Given the description of an element on the screen output the (x, y) to click on. 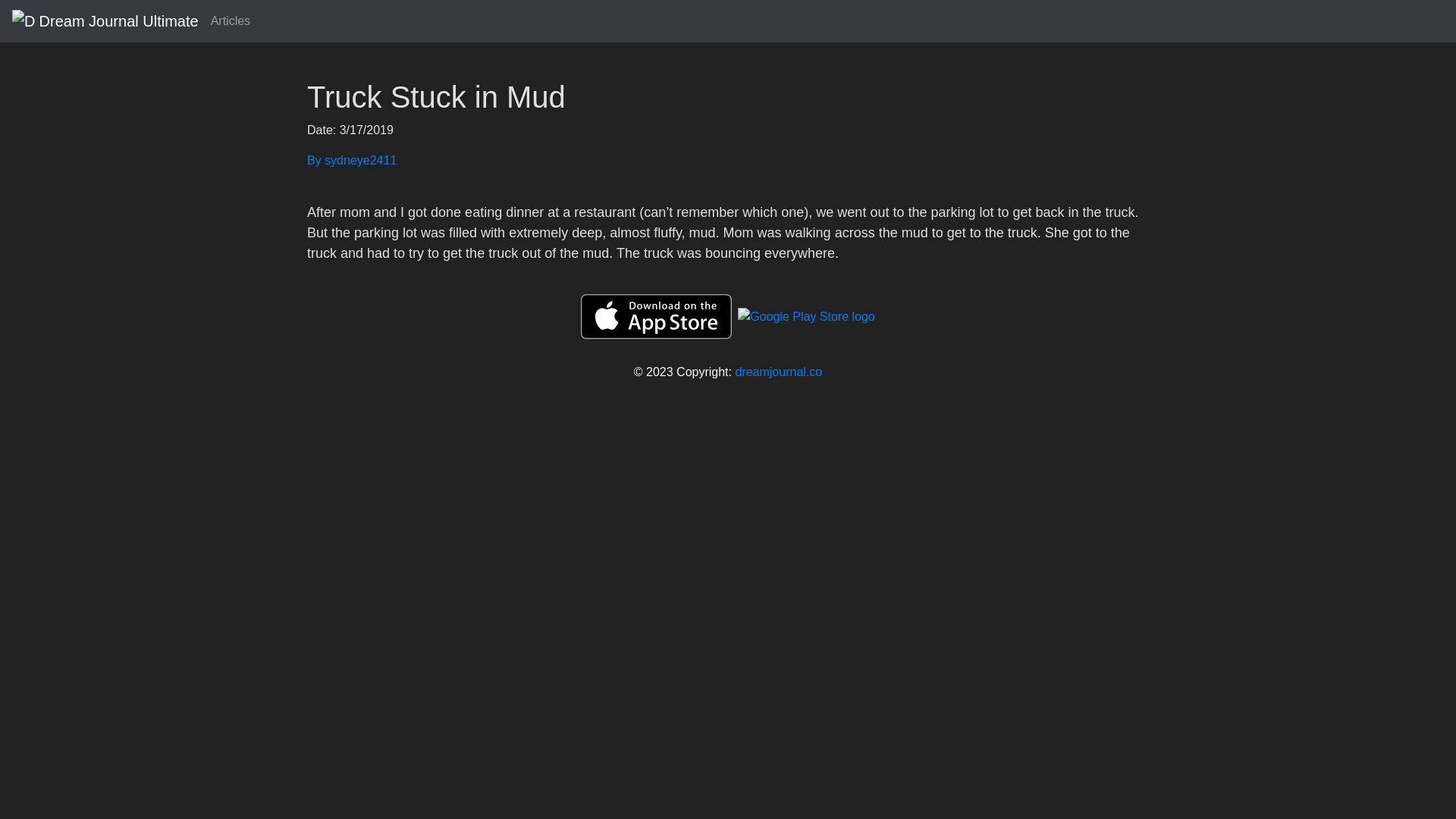
By sydneye2411 (727, 160)
dreamjournal.co (778, 371)
Articles (230, 20)
Dream Journal Ultimate (104, 20)
